Given the description of an element on the screen output the (x, y) to click on. 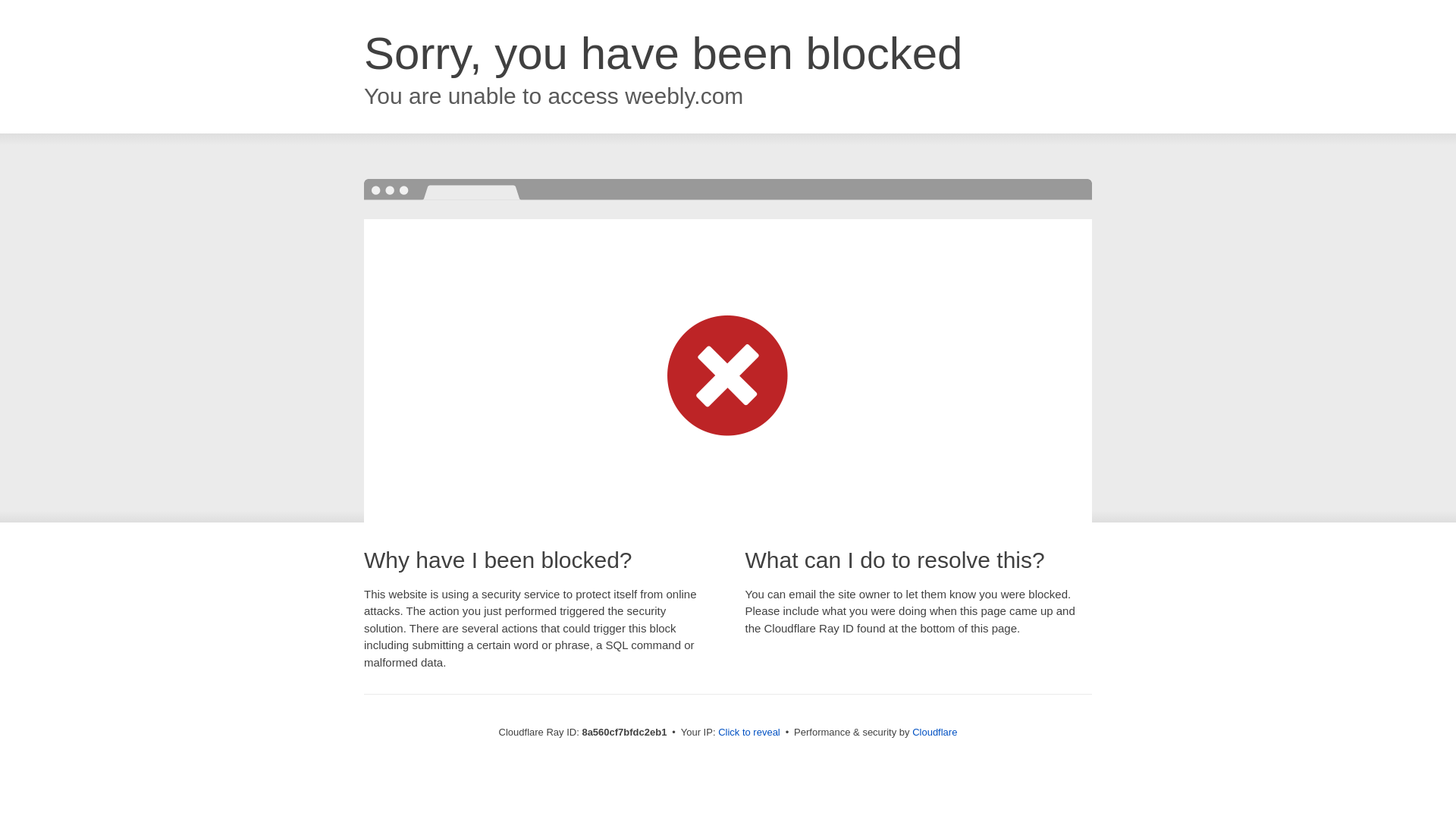
Click to reveal (748, 732)
Cloudflare (934, 731)
